Given the description of an element on the screen output the (x, y) to click on. 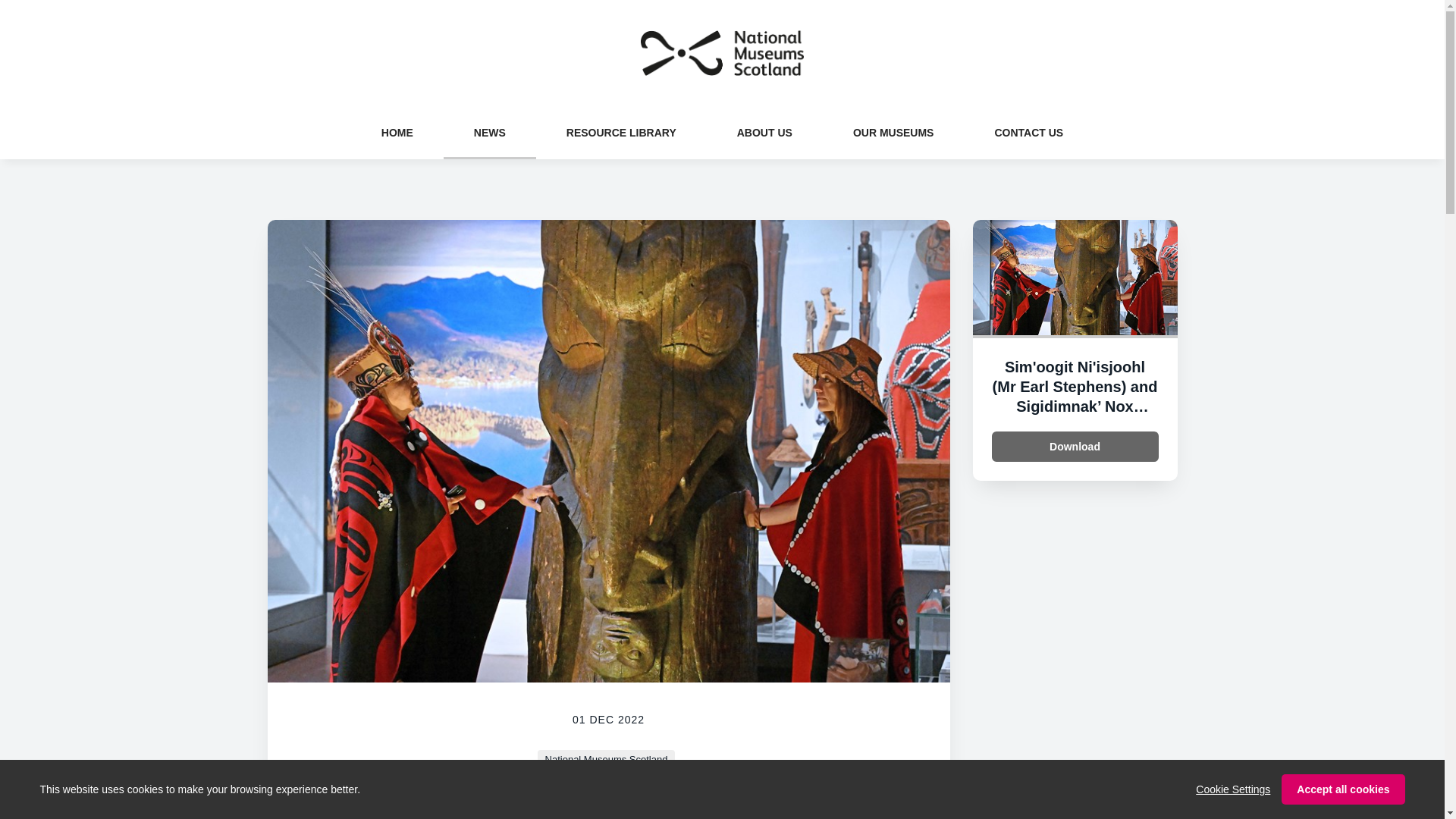
OUR MUSEUMS (892, 132)
RESOURCE LIBRARY (620, 132)
Cookie Settings (1232, 788)
HOME (397, 132)
CONTACT US (1028, 132)
National Museums Scotland (606, 759)
Accept all cookies (1343, 788)
ABOUT US (764, 132)
NEWS (489, 132)
Download (1074, 446)
